Given the description of an element on the screen output the (x, y) to click on. 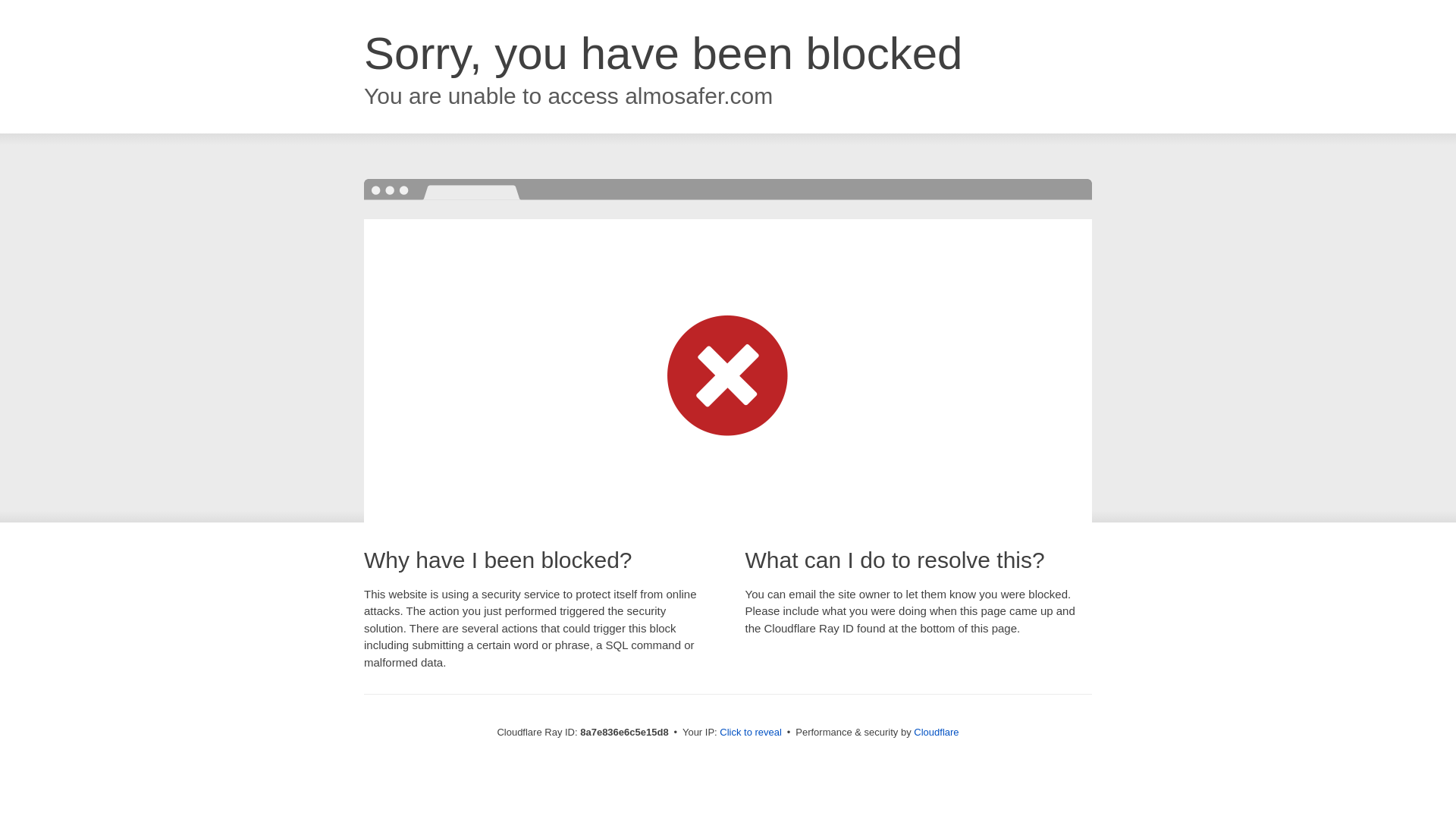
Cloudflare (936, 731)
Click to reveal (750, 732)
